Given the description of an element on the screen output the (x, y) to click on. 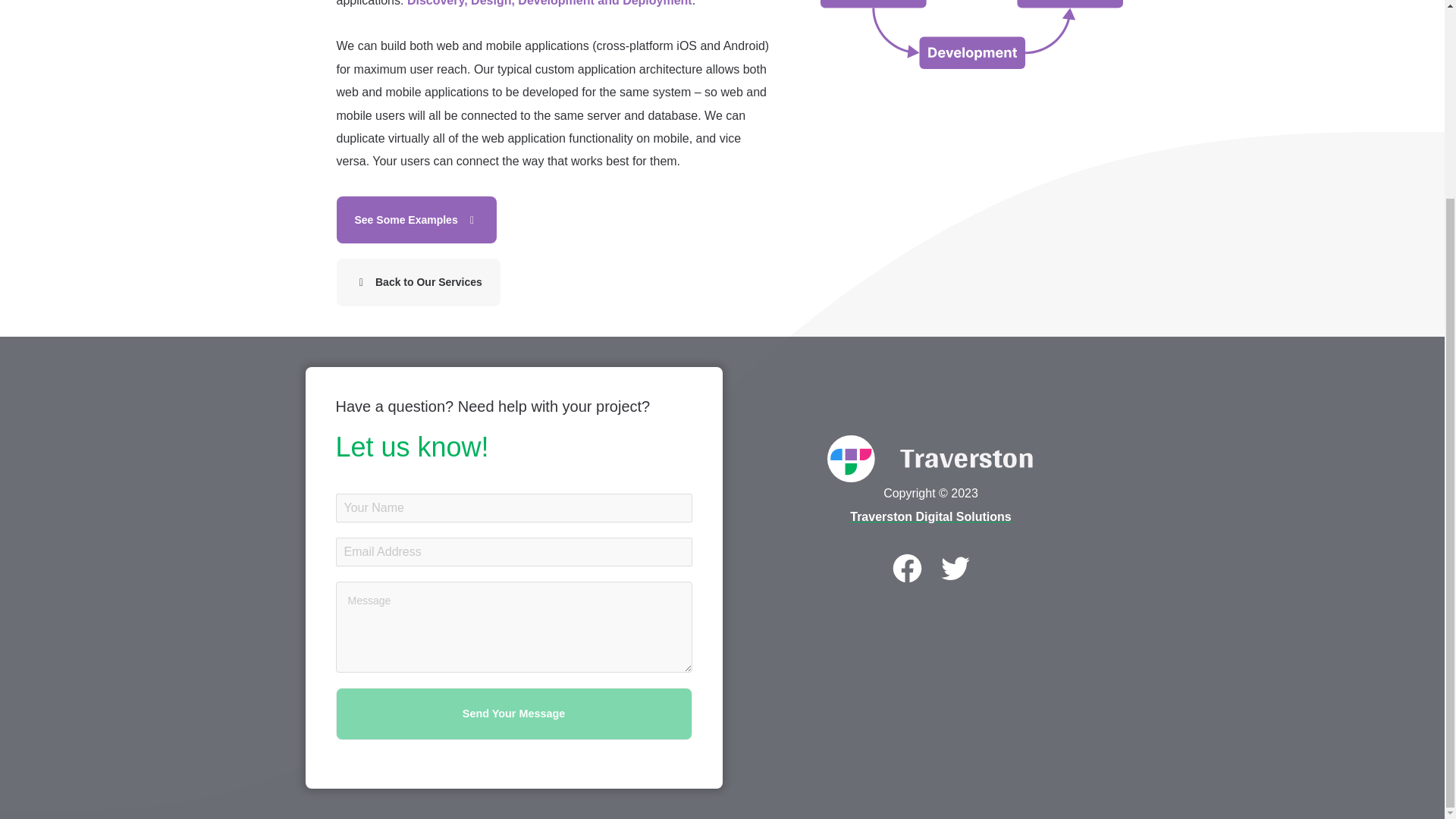
Traverston Digital Solutions (930, 516)
Back to Our Services (418, 281)
Send Your Message (512, 713)
See Some Examples (416, 219)
